Given the description of an element on the screen output the (x, y) to click on. 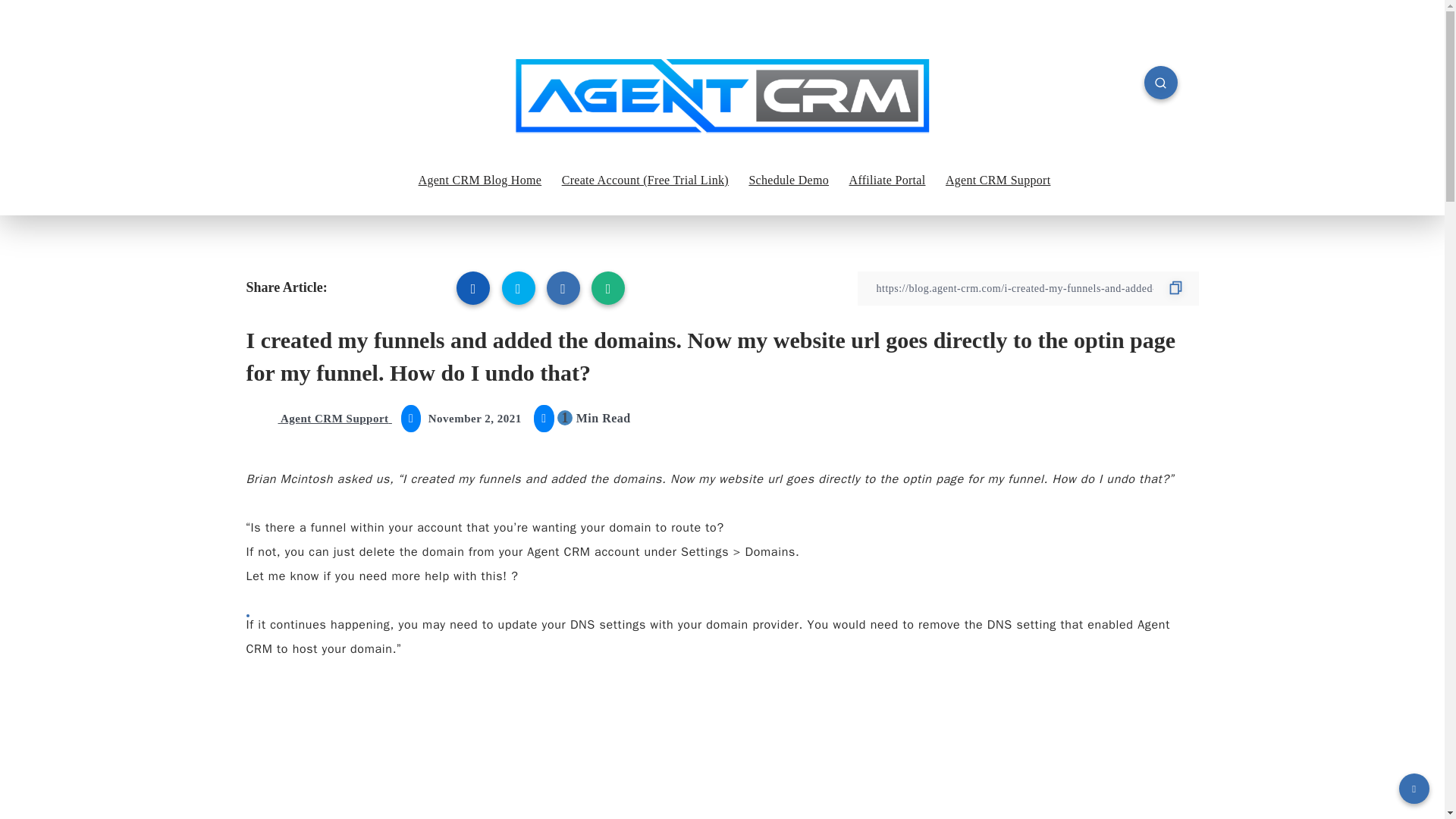
Agent CRM Support (318, 418)
Agent CRM Support (996, 180)
Affiliate Portal (887, 180)
Schedule Demo (788, 180)
Author: Agent CRM Support (318, 418)
Agent CRM Blog Home (480, 180)
